Given the description of an element on the screen output the (x, y) to click on. 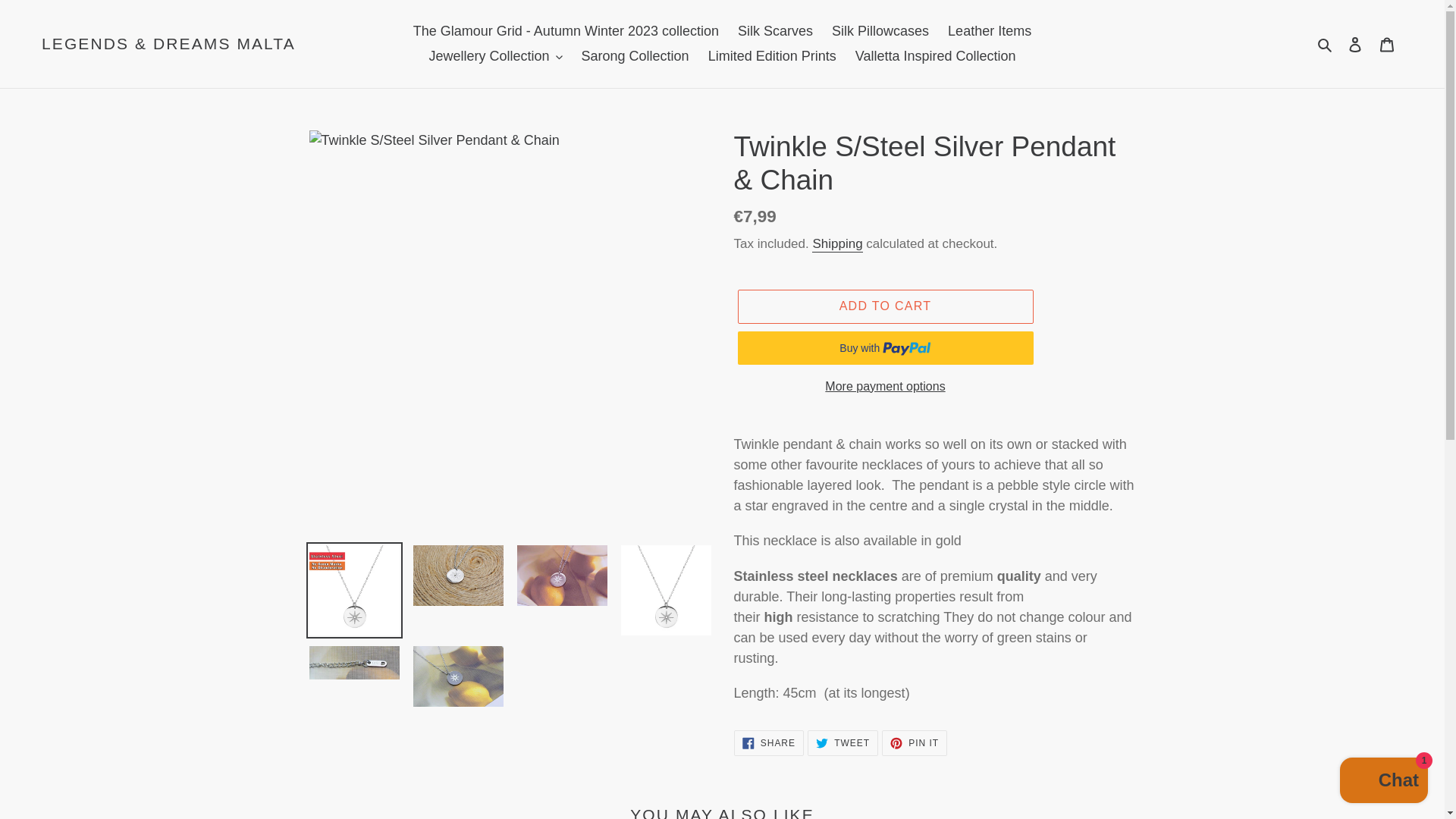
The Glamour Grid - Autumn Winter 2023 collection (566, 31)
Cart (1387, 43)
Search (1326, 44)
Log in (1355, 43)
Shopify online store chat (1383, 781)
Leather Items (989, 31)
Valletta Inspired Collection (935, 56)
Silk Pillowcases (880, 31)
Sarong Collection (635, 56)
Silk Scarves (775, 31)
Limited Edition Prints (772, 56)
Jewellery Collection (494, 56)
